Given the description of an element on the screen output the (x, y) to click on. 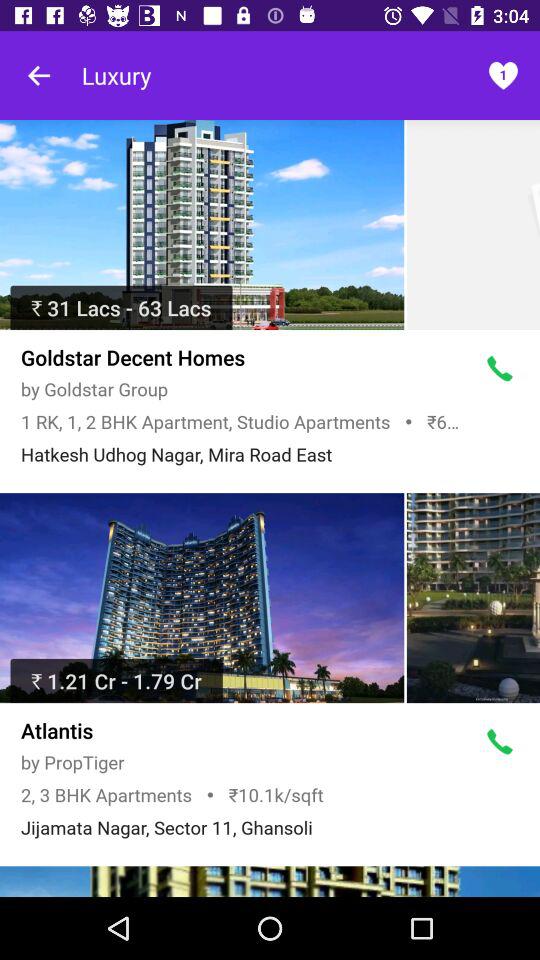
go back (39, 75)
